Given the description of an element on the screen output the (x, y) to click on. 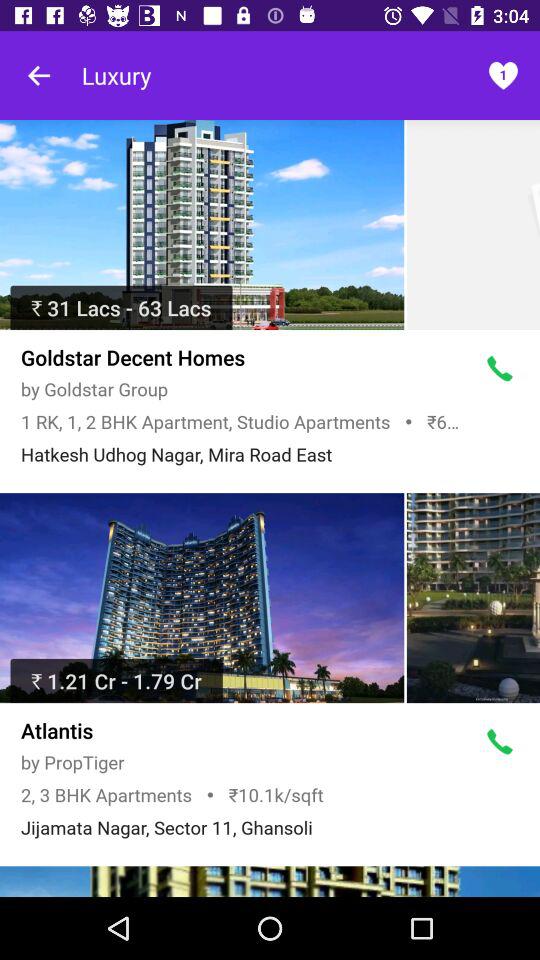
go back (39, 75)
